Given the description of an element on the screen output the (x, y) to click on. 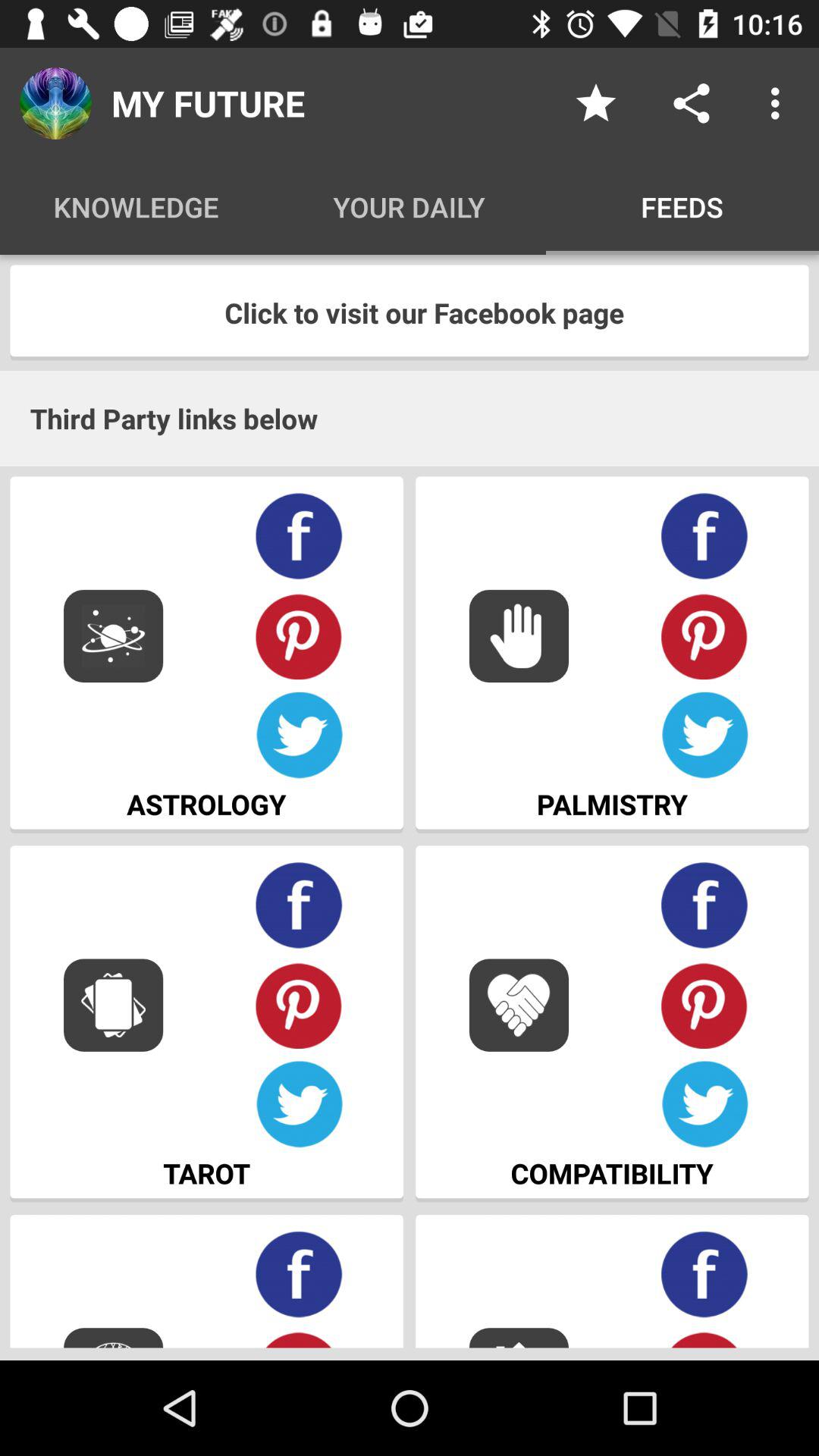
open the item to the right of my future (595, 103)
